Given the description of an element on the screen output the (x, y) to click on. 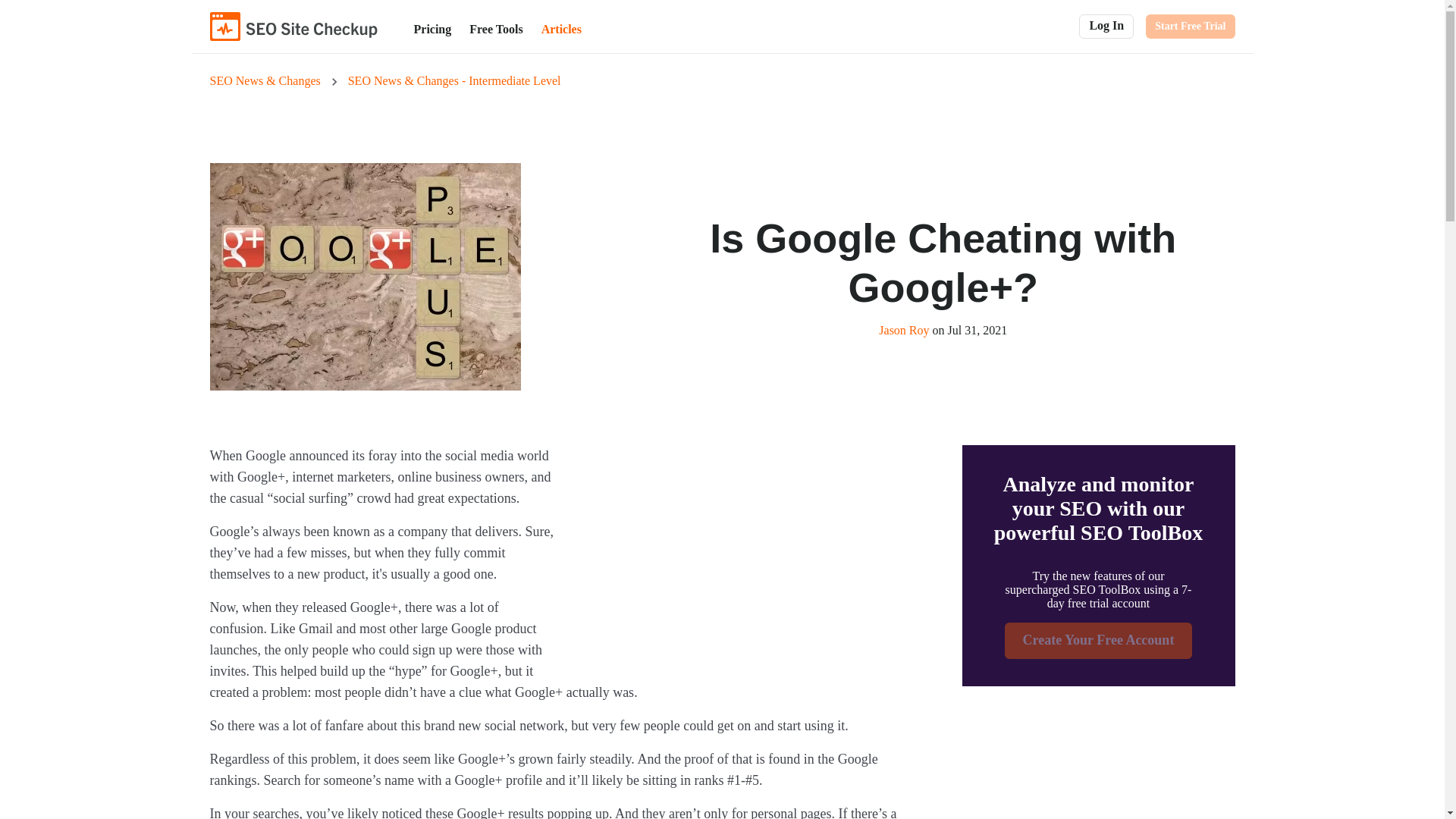
Jason Roy (903, 329)
Create Your Free Account (1098, 640)
Pricing (432, 29)
Free Tools (495, 29)
Articles (561, 29)
Start Free Trial (1189, 26)
